Given the description of an element on the screen output the (x, y) to click on. 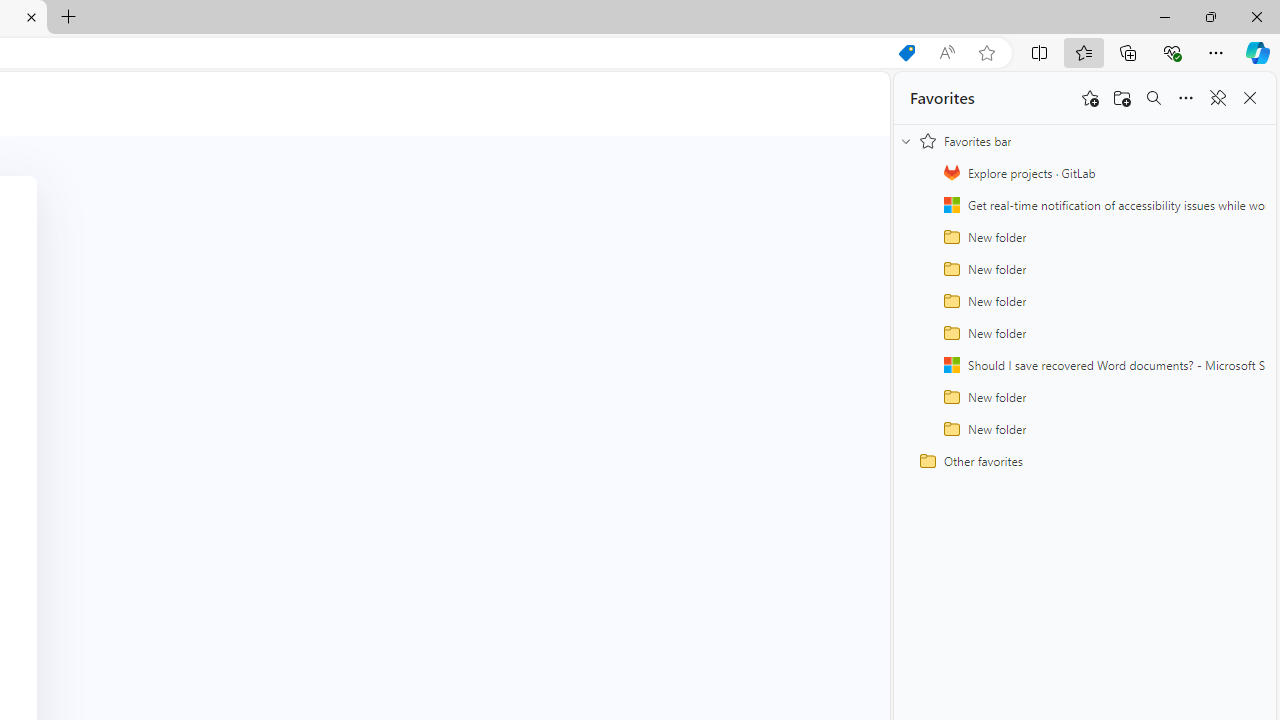
Add folder (1122, 98)
Close favorites (1250, 98)
Search favorites (1153, 98)
Add this page to favorites (1089, 98)
